Given the description of an element on the screen output the (x, y) to click on. 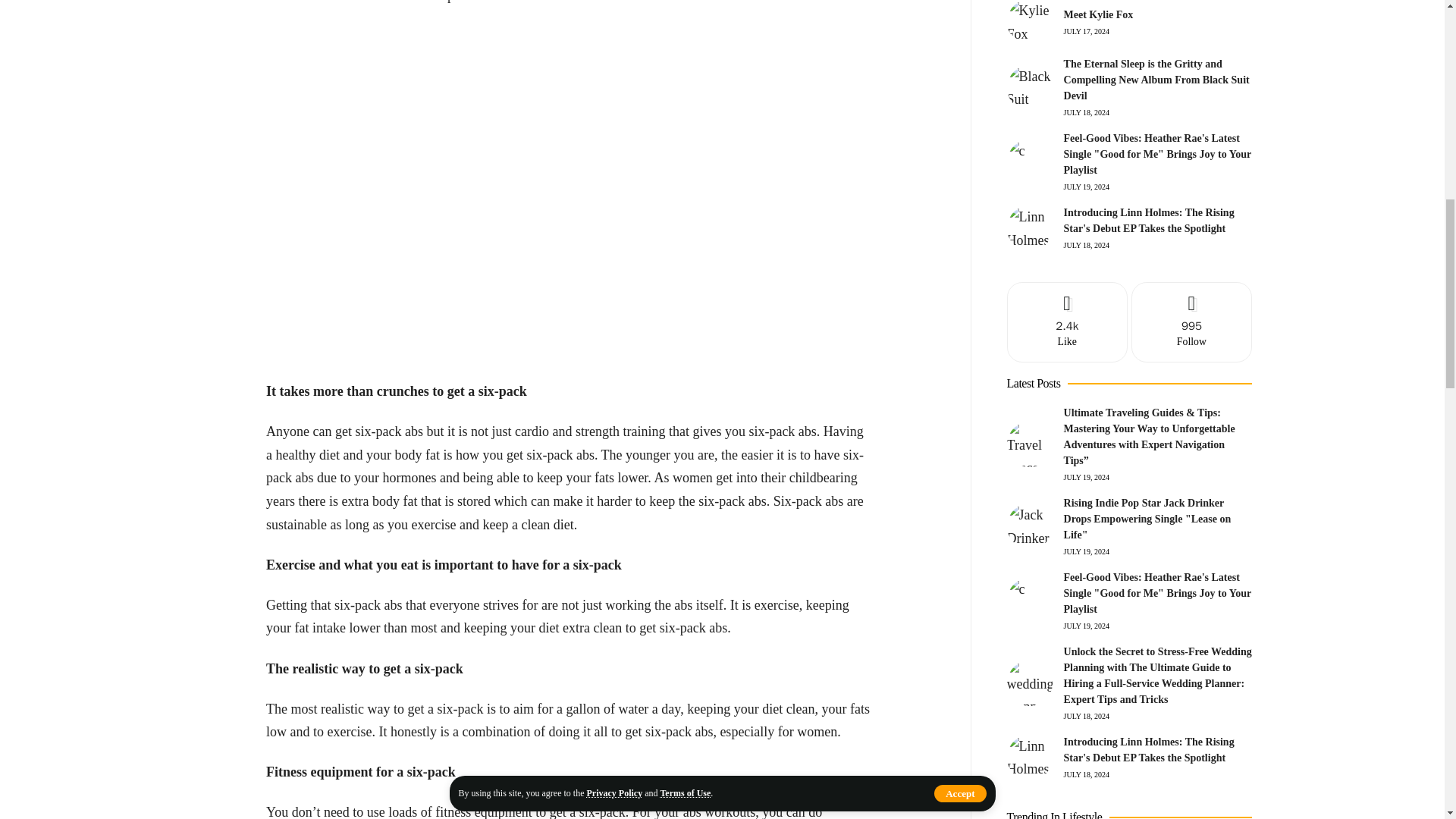
Meet Kylie Fox (1029, 22)
StephanieRofkahr 1 (568, 181)
